Given the description of an element on the screen output the (x, y) to click on. 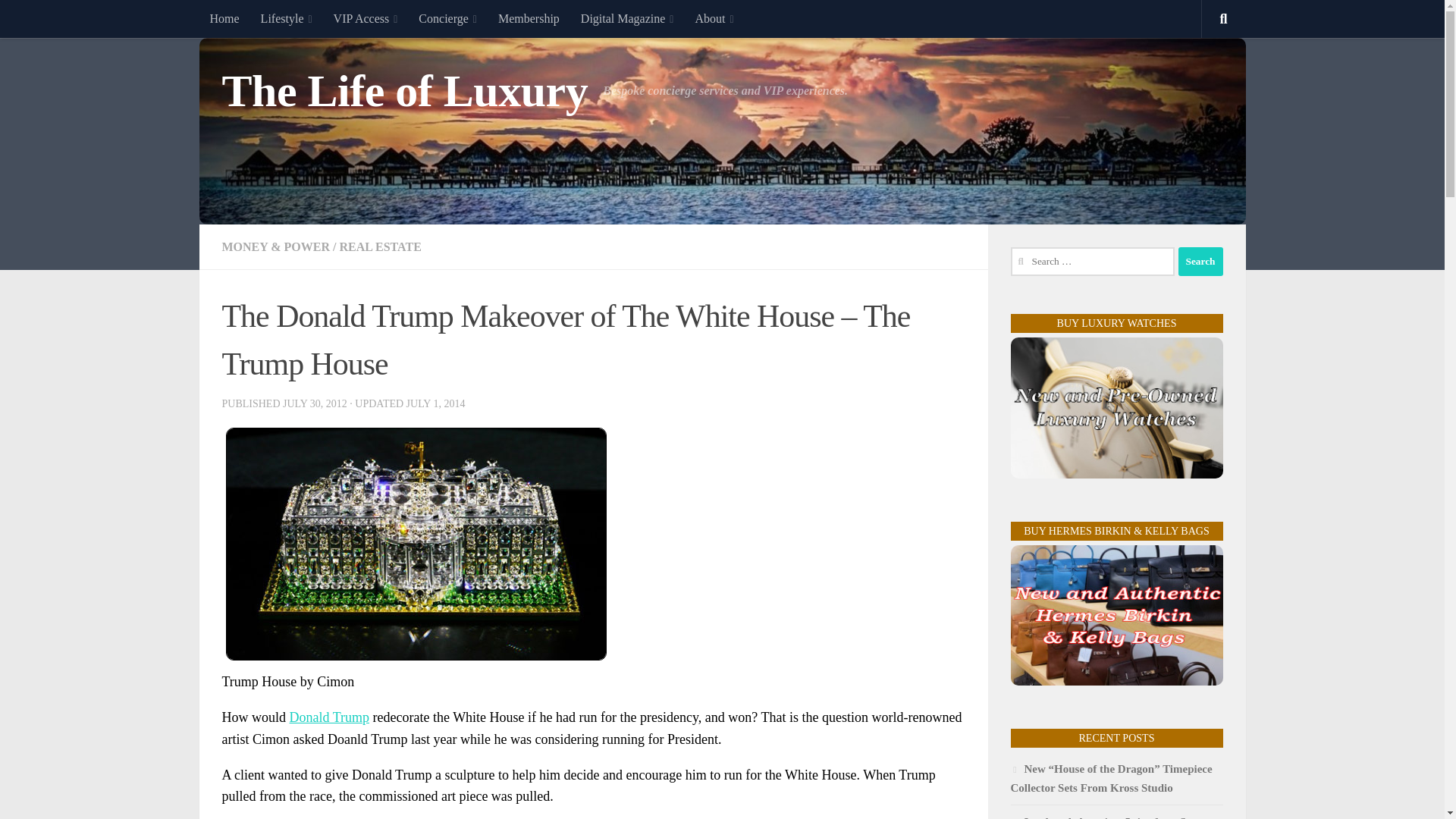
Search (1200, 261)
Donald Trump (329, 717)
Search (1200, 261)
Skip to content (59, 20)
